Given the description of an element on the screen output the (x, y) to click on. 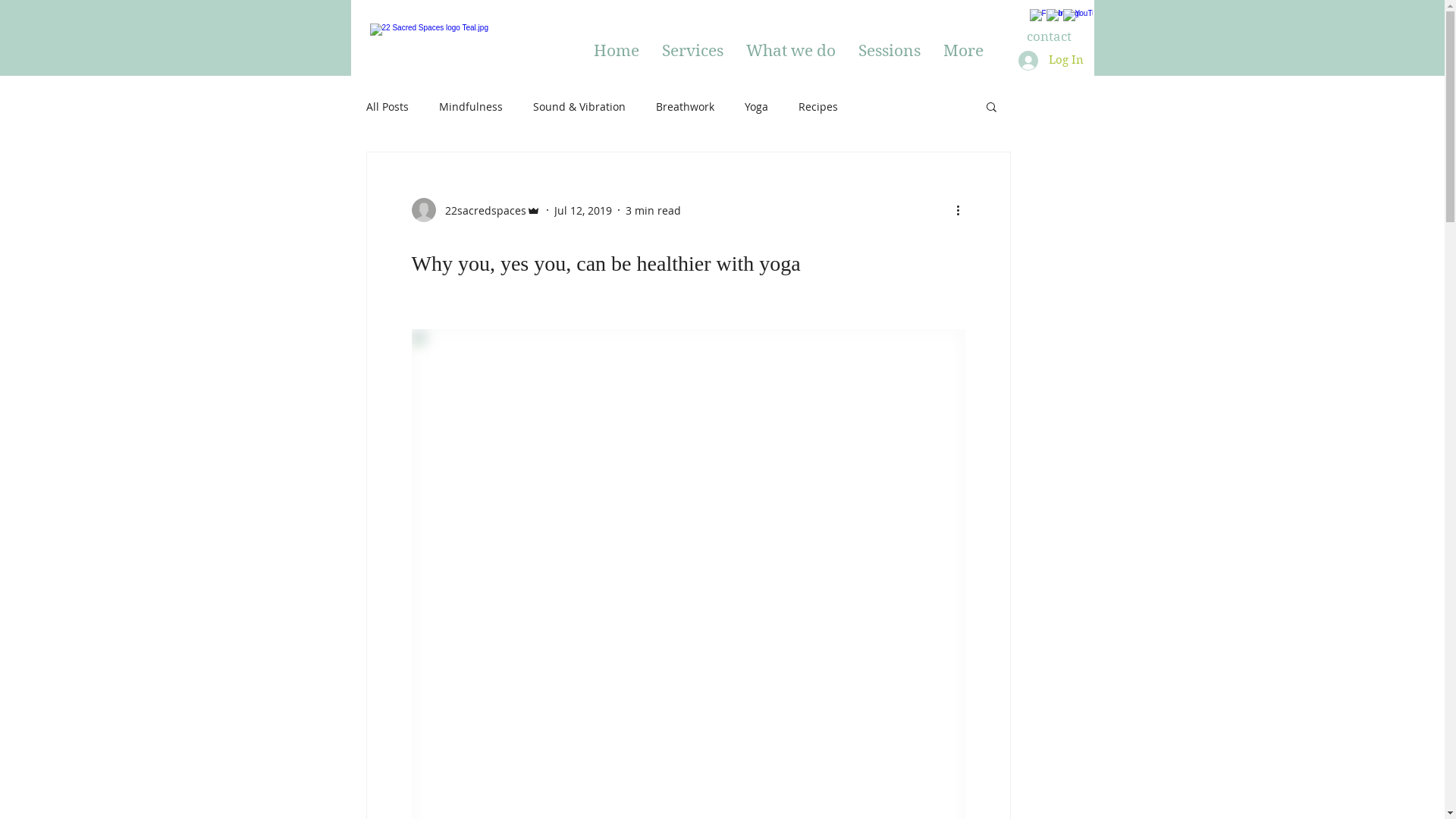
Recipes Element type: text (817, 105)
What we do Element type: text (790, 50)
Mindfulness Element type: text (470, 105)
Breathwork Element type: text (684, 105)
Sessions Element type: text (888, 50)
22sacredspaces Element type: text (475, 209)
All Posts Element type: text (386, 105)
Sound & Vibration Element type: text (578, 105)
Services Element type: text (692, 50)
Yoga Element type: text (756, 105)
Home Element type: text (616, 50)
contact Element type: text (1048, 36)
Log In Element type: text (1050, 59)
